Given the description of an element on the screen output the (x, y) to click on. 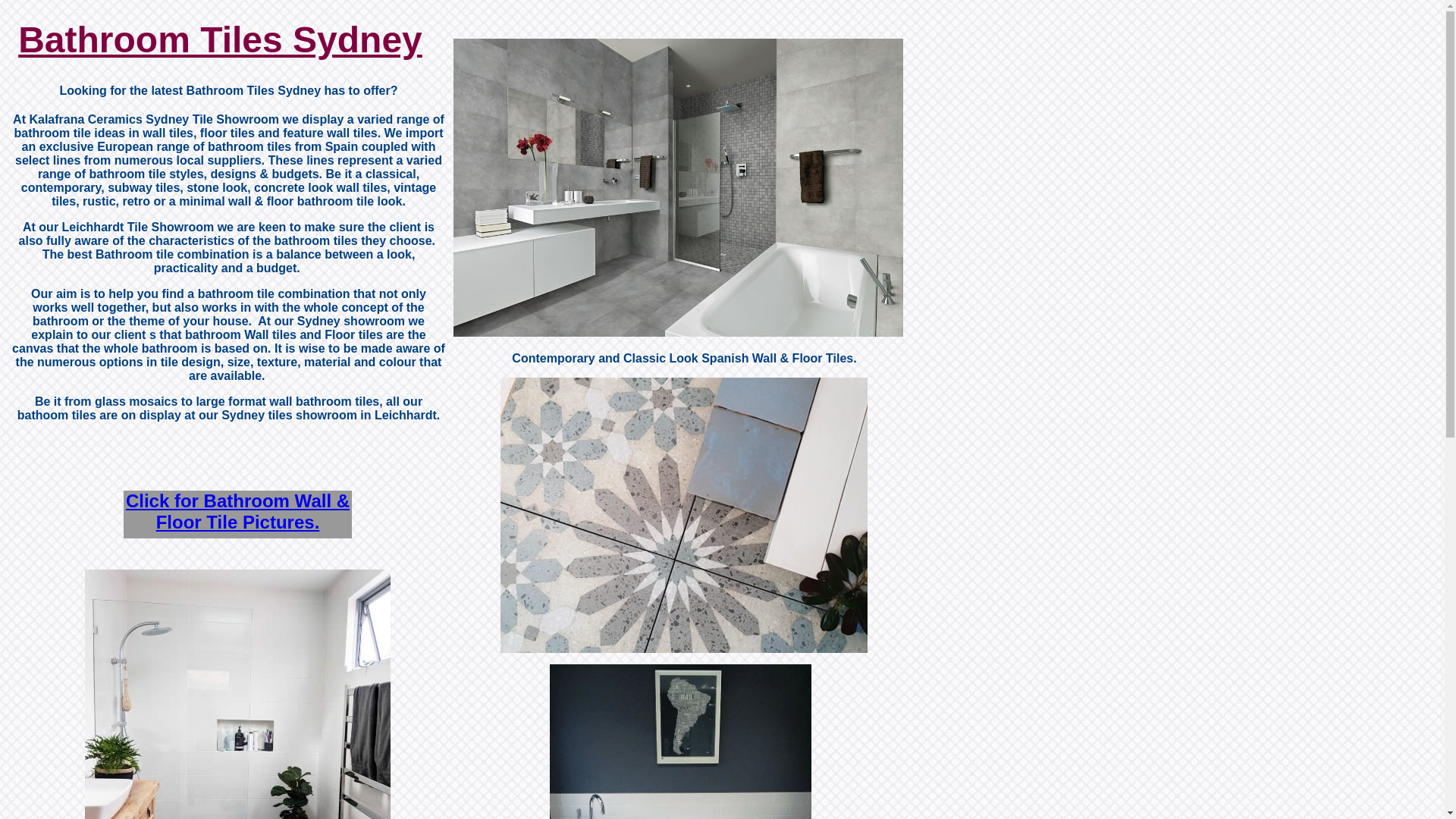
Bathroom Tiles Sydney Element type: text (220, 39)
Click for Bathroom Wall & Floor Tile Pictures. Element type: text (237, 511)
